Given the description of an element on the screen output the (x, y) to click on. 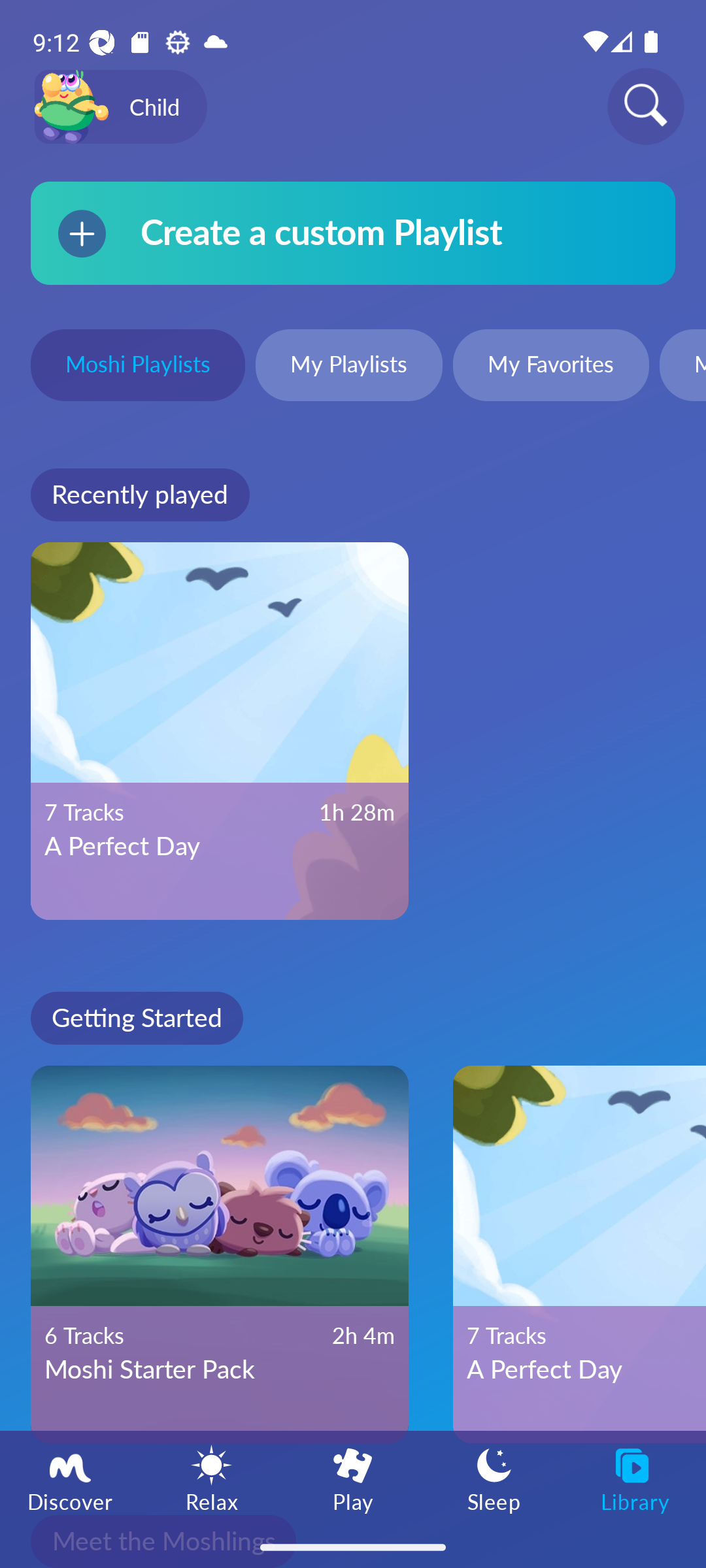
Profile icon Child (120, 107)
Create a custom Playlist (352, 233)
Moshi Playlists (137, 367)
My Playlists (348, 367)
My Favorites (550, 367)
Featured Content 7 Tracks A Perfect Day 1h 28m (219, 731)
Featured Content 6 Tracks Moshi Starter Pack 2h 4m (219, 1254)
Featured Content 7 Tracks A Perfect Day (579, 1254)
Discover (70, 1478)
Relax (211, 1478)
Play (352, 1478)
Sleep (493, 1478)
